Given the description of an element on the screen output the (x, y) to click on. 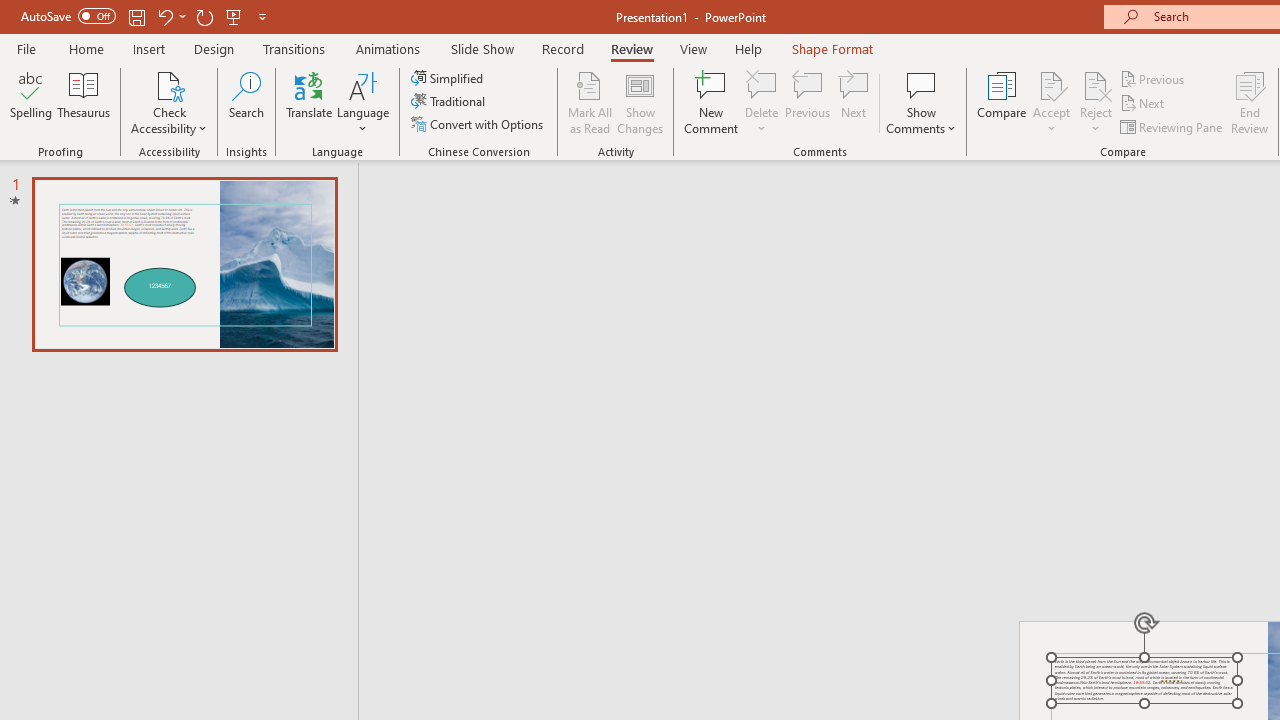
Convert with Options... (479, 124)
Show Changes (639, 102)
Language (363, 102)
Mark All as Read (589, 102)
